Given the description of an element on the screen output the (x, y) to click on. 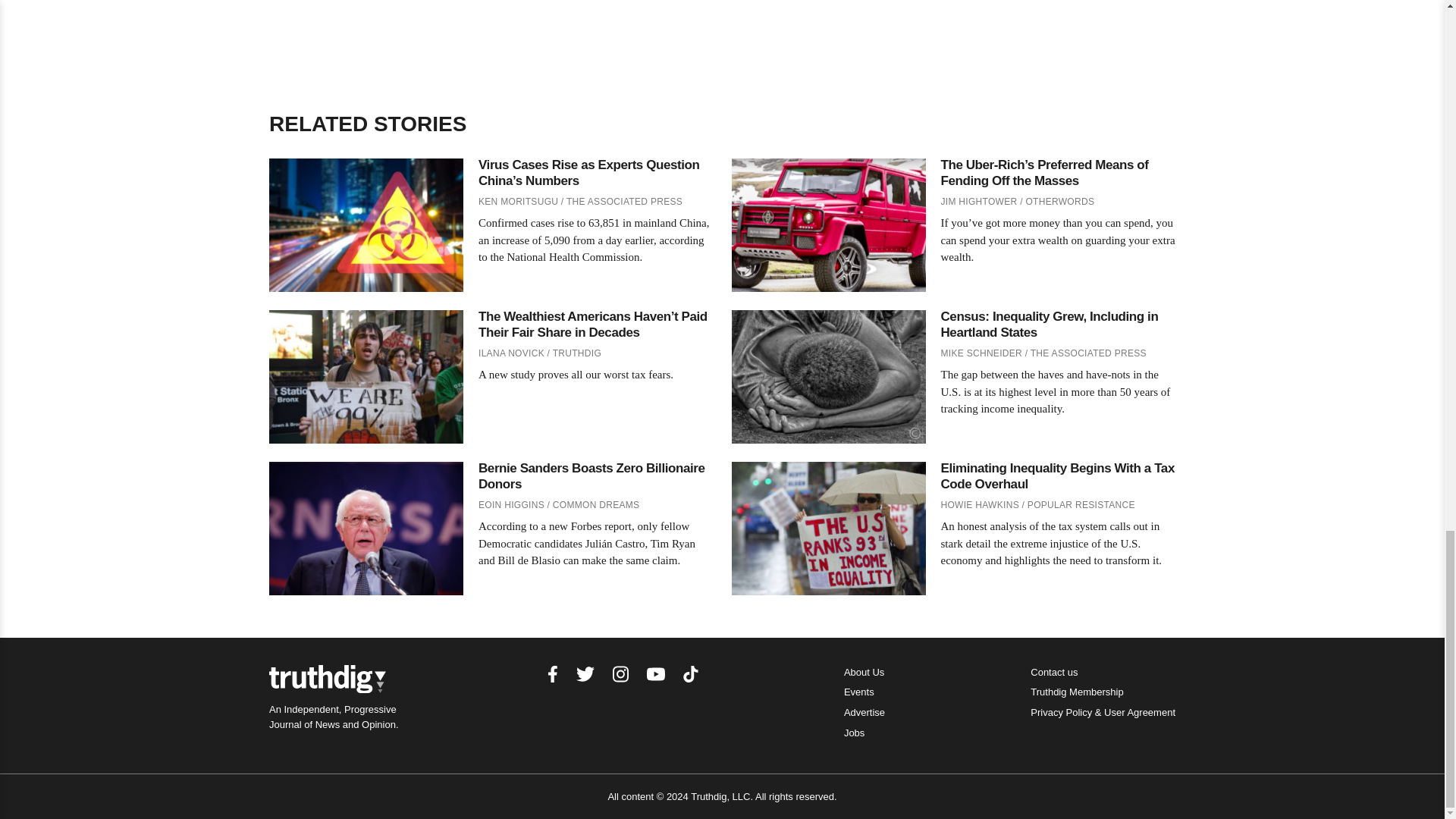
3rd party ad content (721, 23)
